Given the description of an element on the screen output the (x, y) to click on. 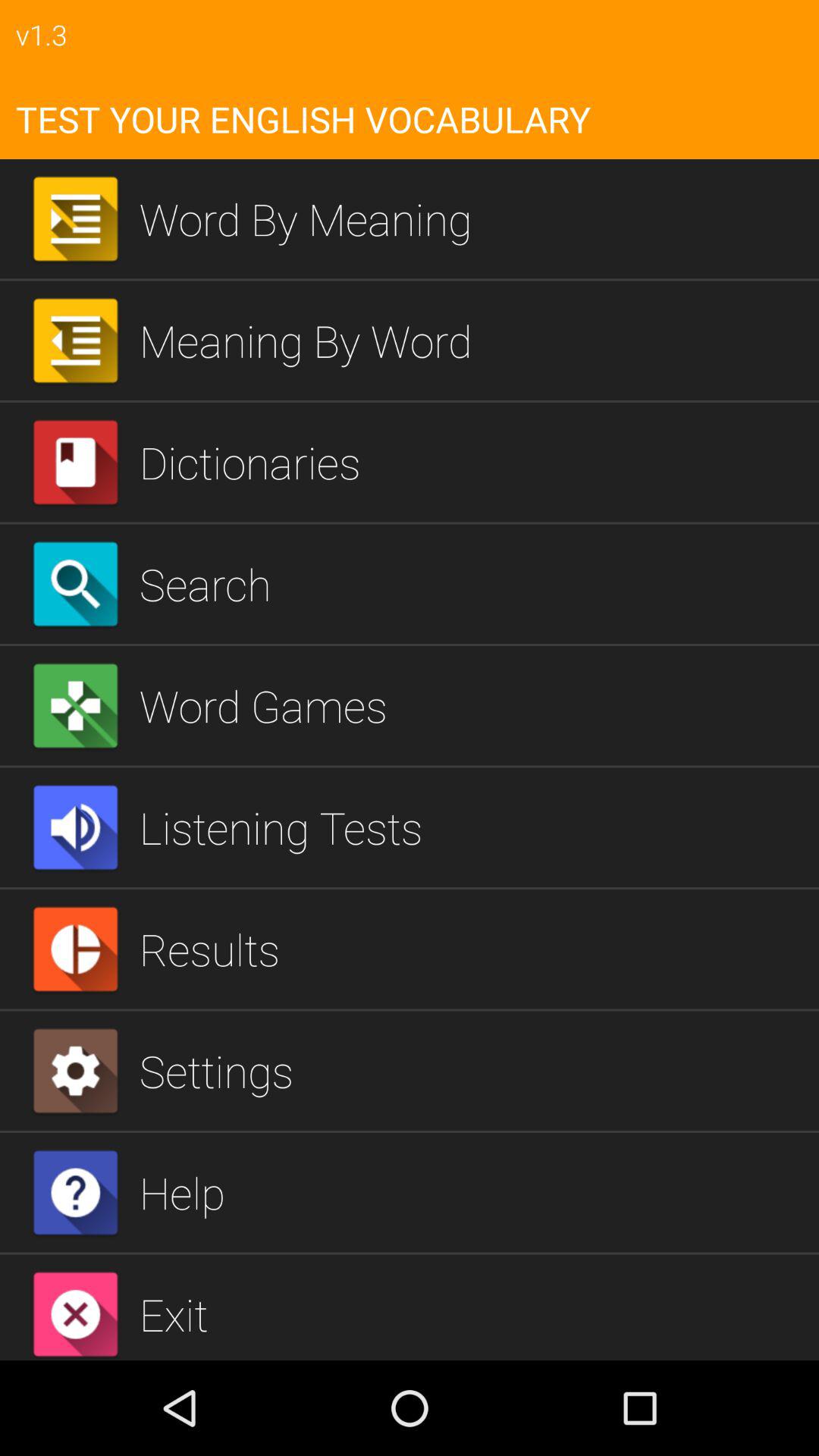
press the app above the settings icon (473, 949)
